Given the description of an element on the screen output the (x, y) to click on. 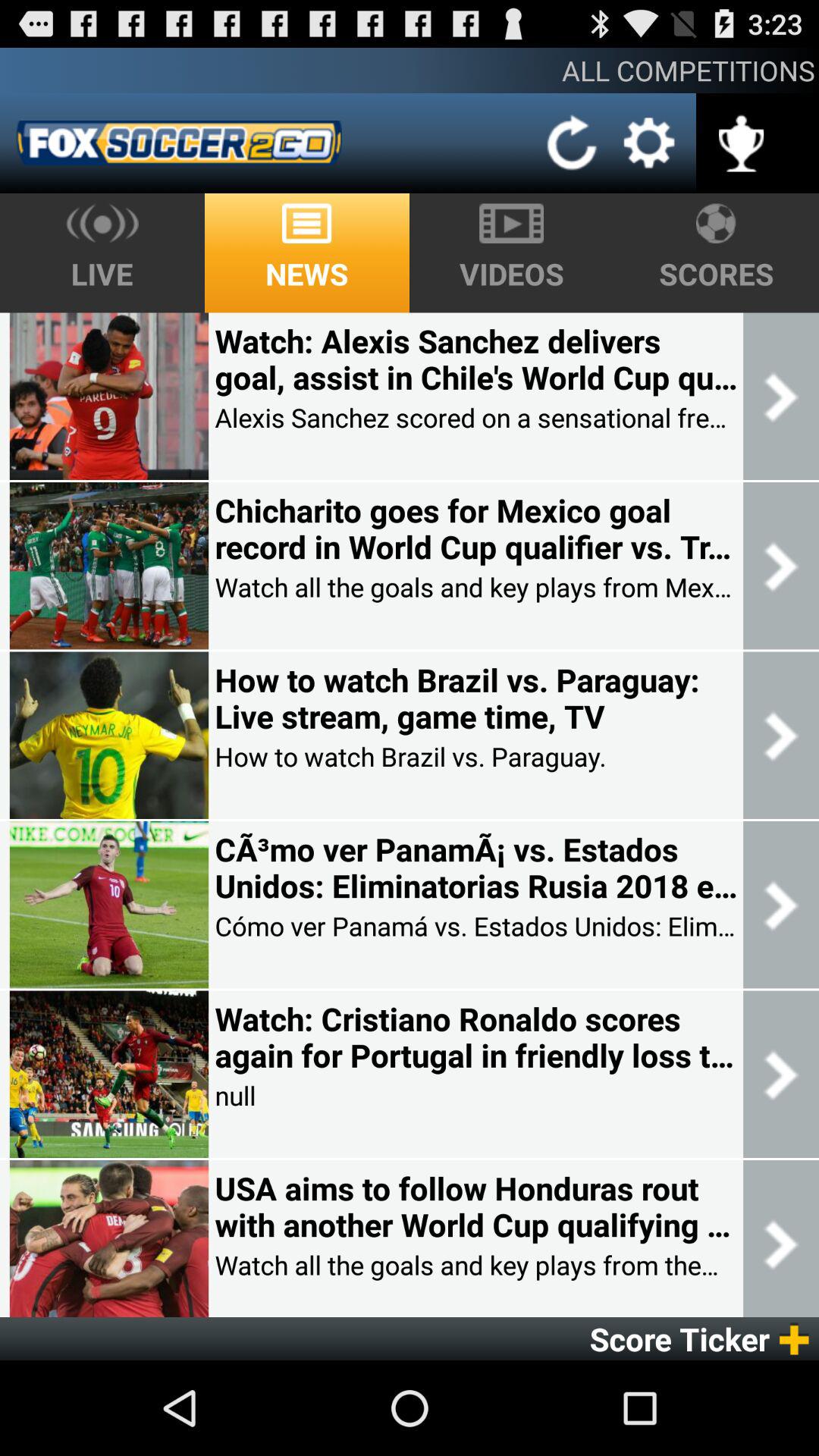
open usa aims to item (475, 1206)
